Given the description of an element on the screen output the (x, y) to click on. 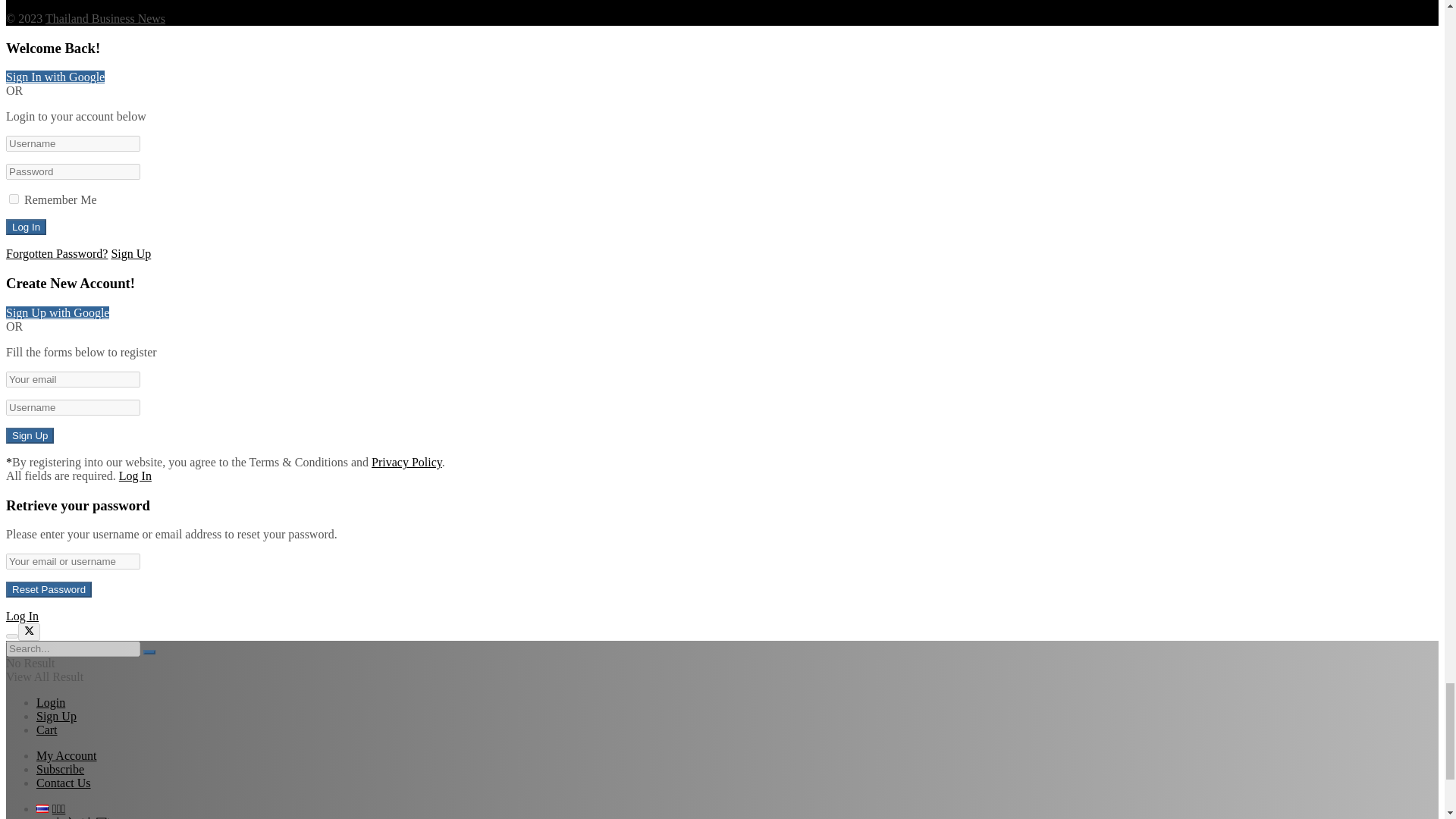
true (13, 198)
Sign Up (29, 435)
Log In (25, 227)
Reset Password (48, 589)
